Given the description of an element on the screen output the (x, y) to click on. 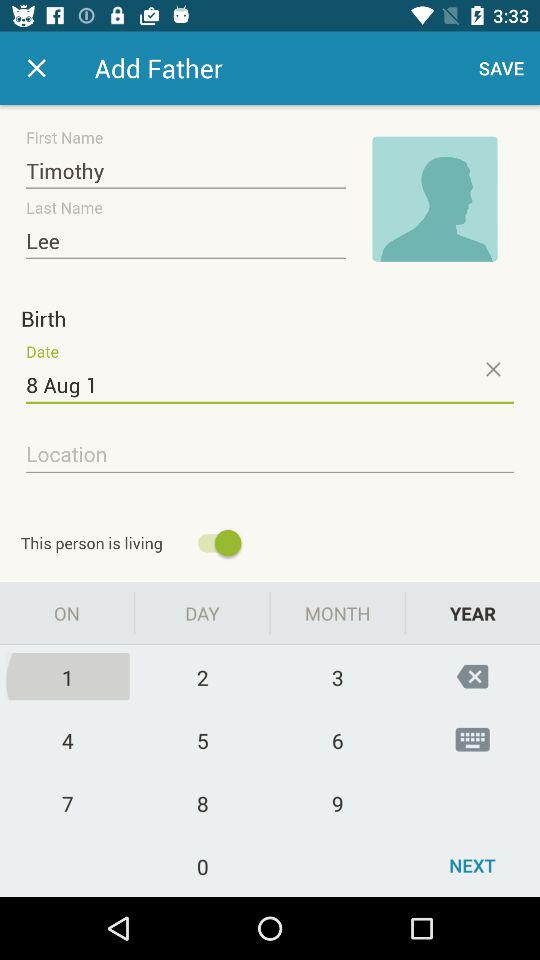
picture profile (435, 199)
